Given the description of an element on the screen output the (x, y) to click on. 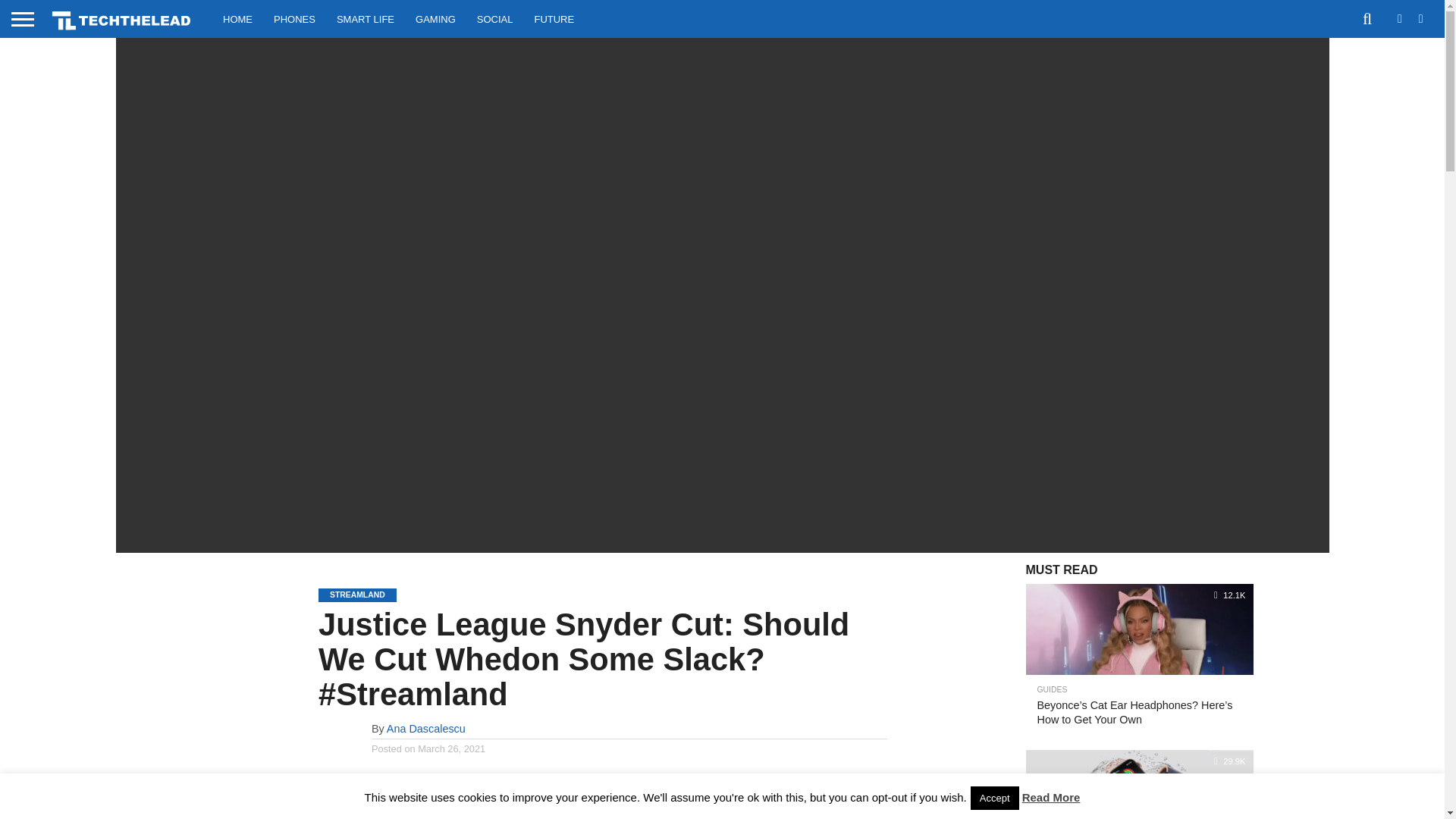
SOCIAL (494, 18)
PHONES (294, 18)
GAMING (434, 18)
HOME (237, 18)
SMART LIFE (365, 18)
FUTURE (553, 18)
Posts by Ana Dascalescu (426, 728)
